Given the description of an element on the screen output the (x, y) to click on. 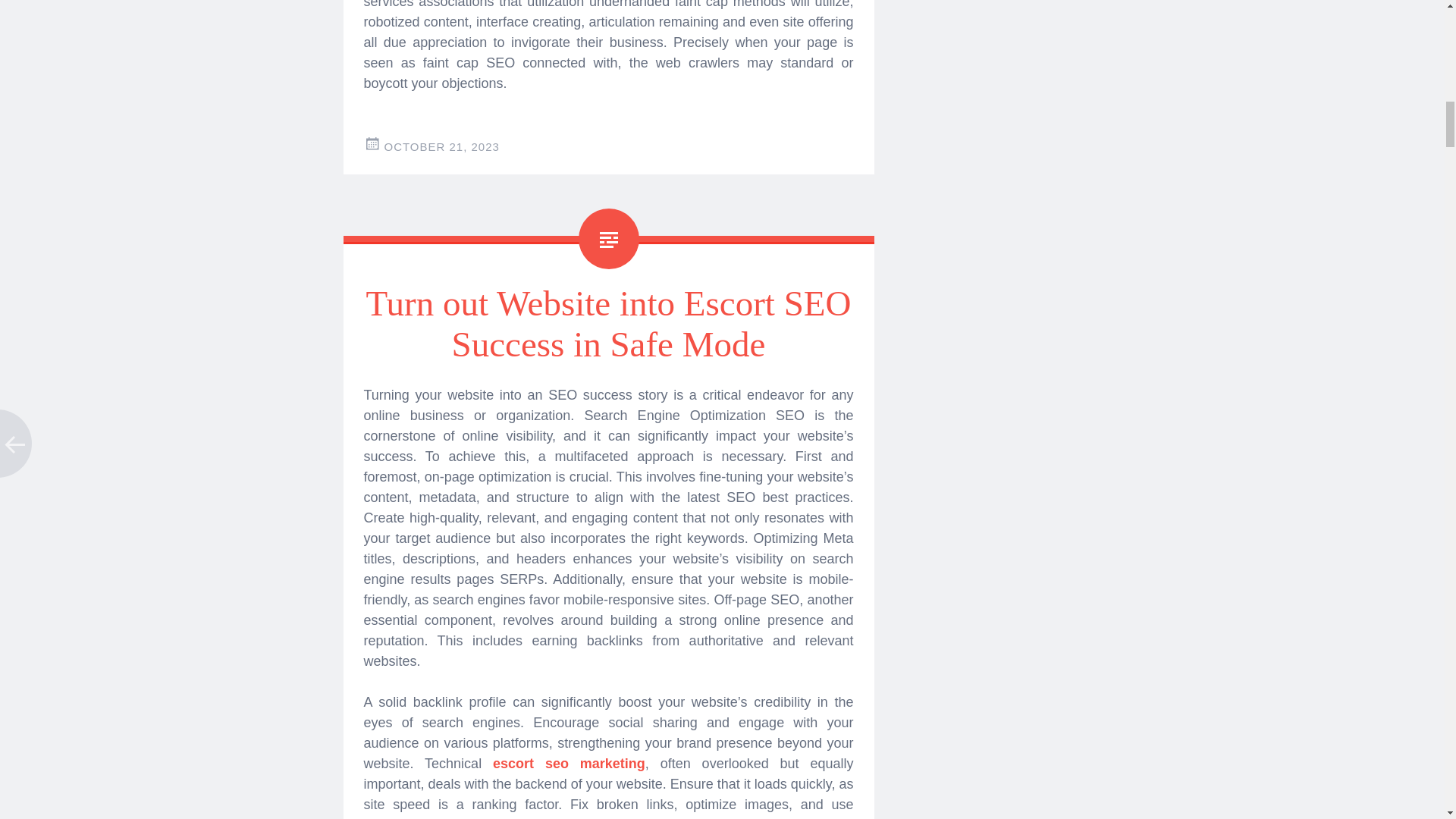
5:34 am (441, 146)
